Given the description of an element on the screen output the (x, y) to click on. 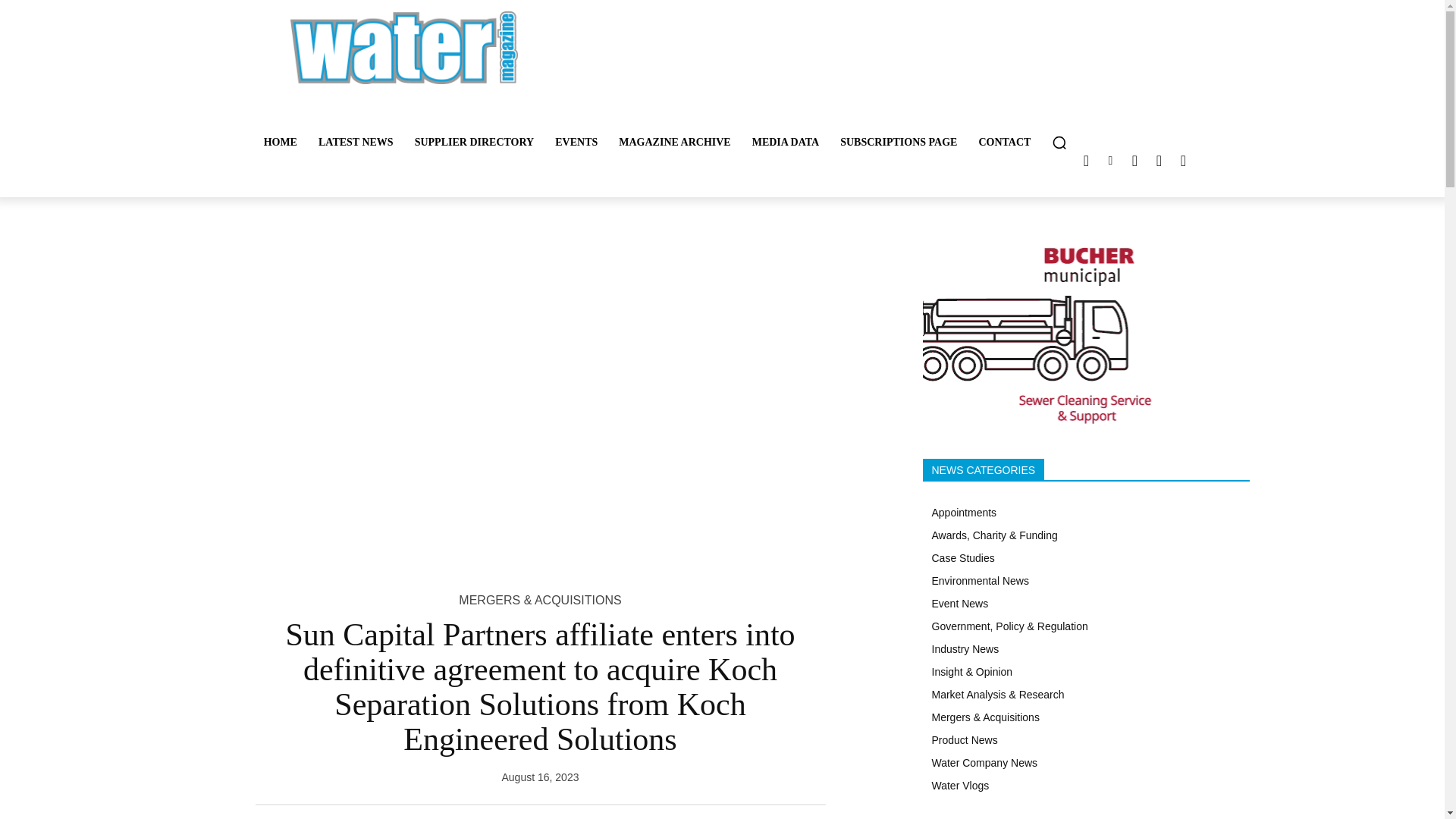
Facebook (1158, 160)
Instagram (1133, 160)
SUBSCRIPTIONS PAGE (898, 142)
Youtube (1182, 160)
HOME (280, 142)
LATEST NEWS (355, 142)
MEDIA DATA (785, 142)
SUPPLIER DIRECTORY (474, 142)
Linkedin (1110, 160)
CONTACT (1004, 142)
